Given the description of an element on the screen output the (x, y) to click on. 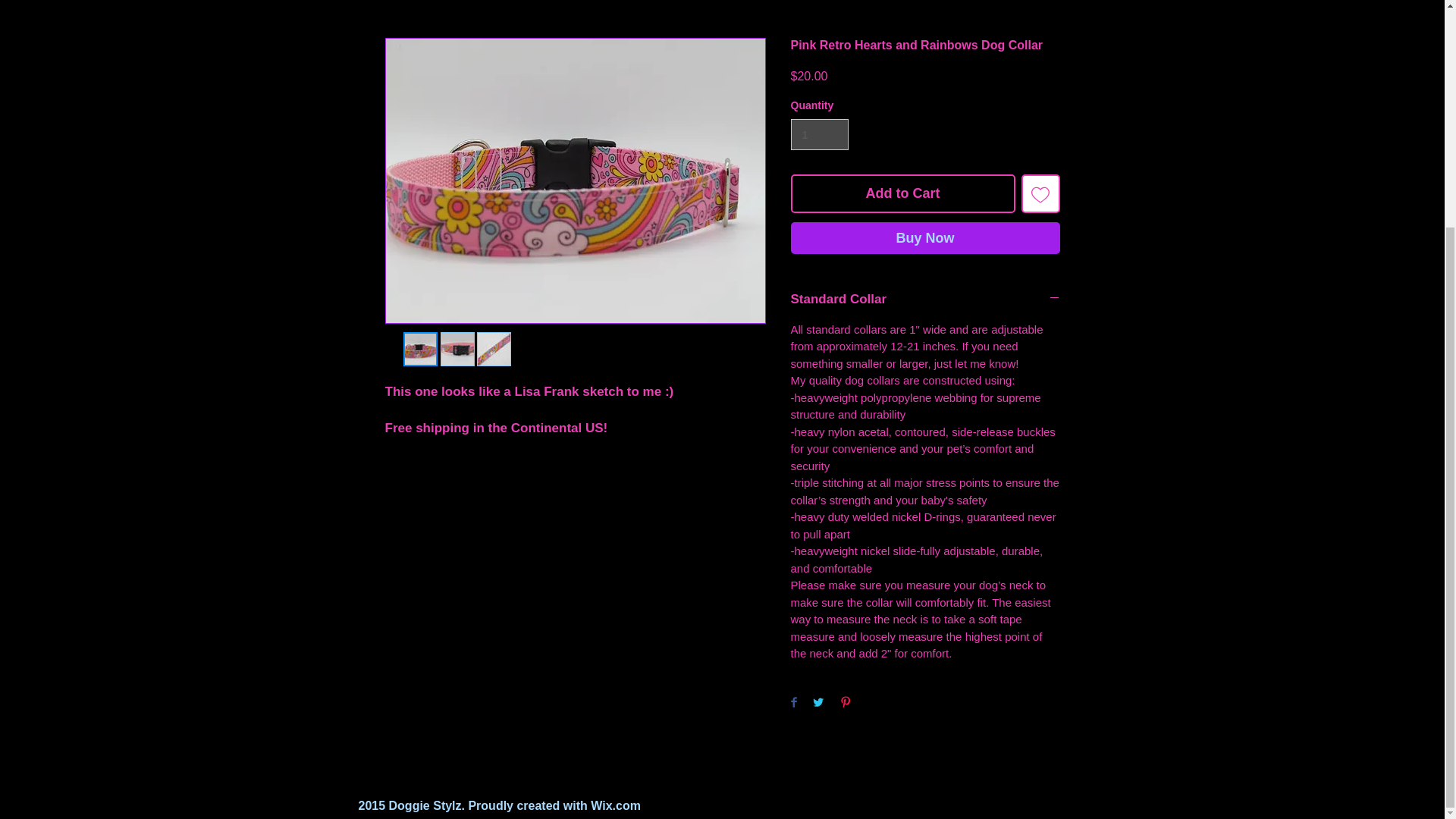
1 (818, 133)
